Given the description of an element on the screen output the (x, y) to click on. 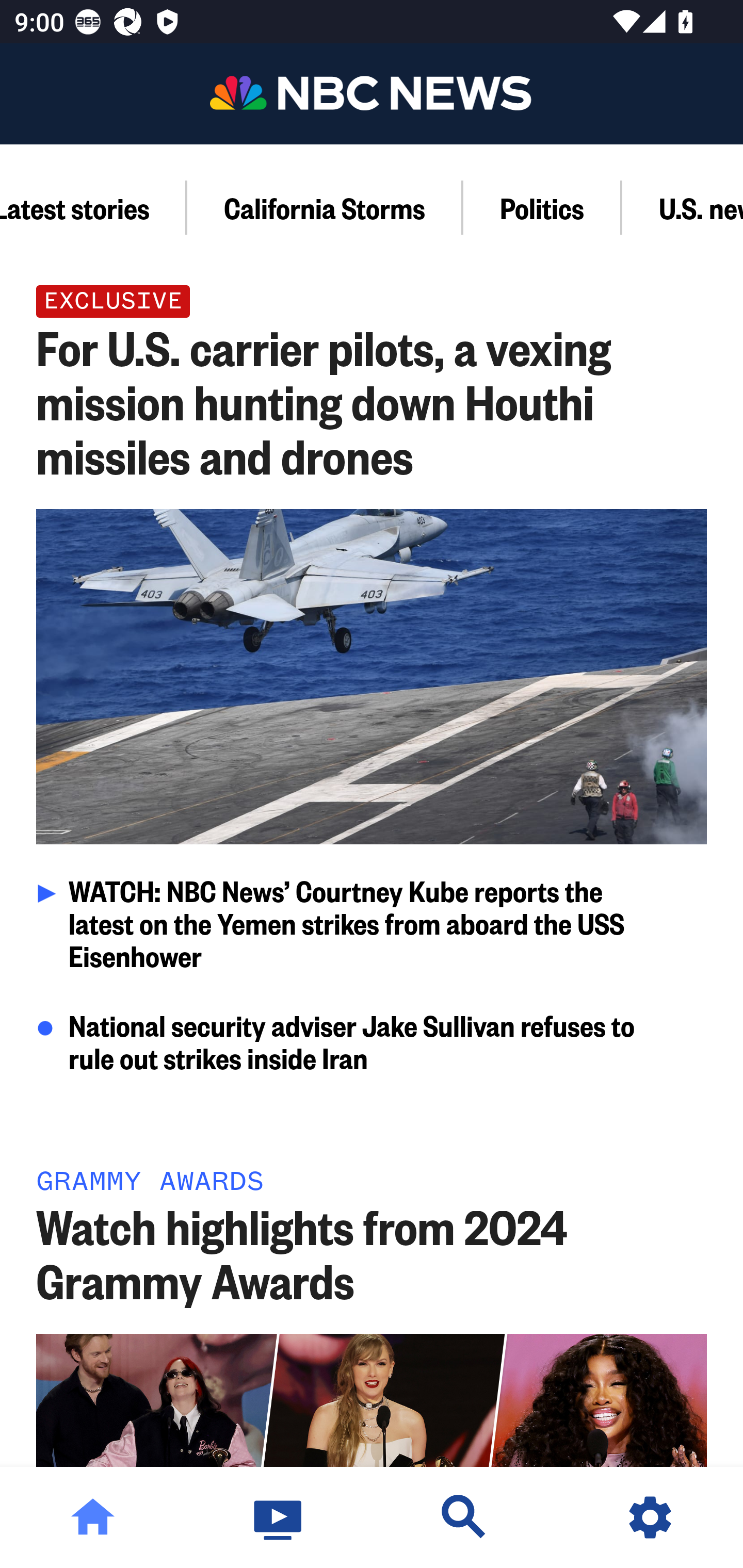
Latest stories Section,Latest stories (93, 207)
California Storms (325, 207)
Politics Section,Politics (542, 207)
U.S. news Section,U.S. news (682, 207)
Watch (278, 1517)
Discover (464, 1517)
Settings (650, 1517)
